Given the description of an element on the screen output the (x, y) to click on. 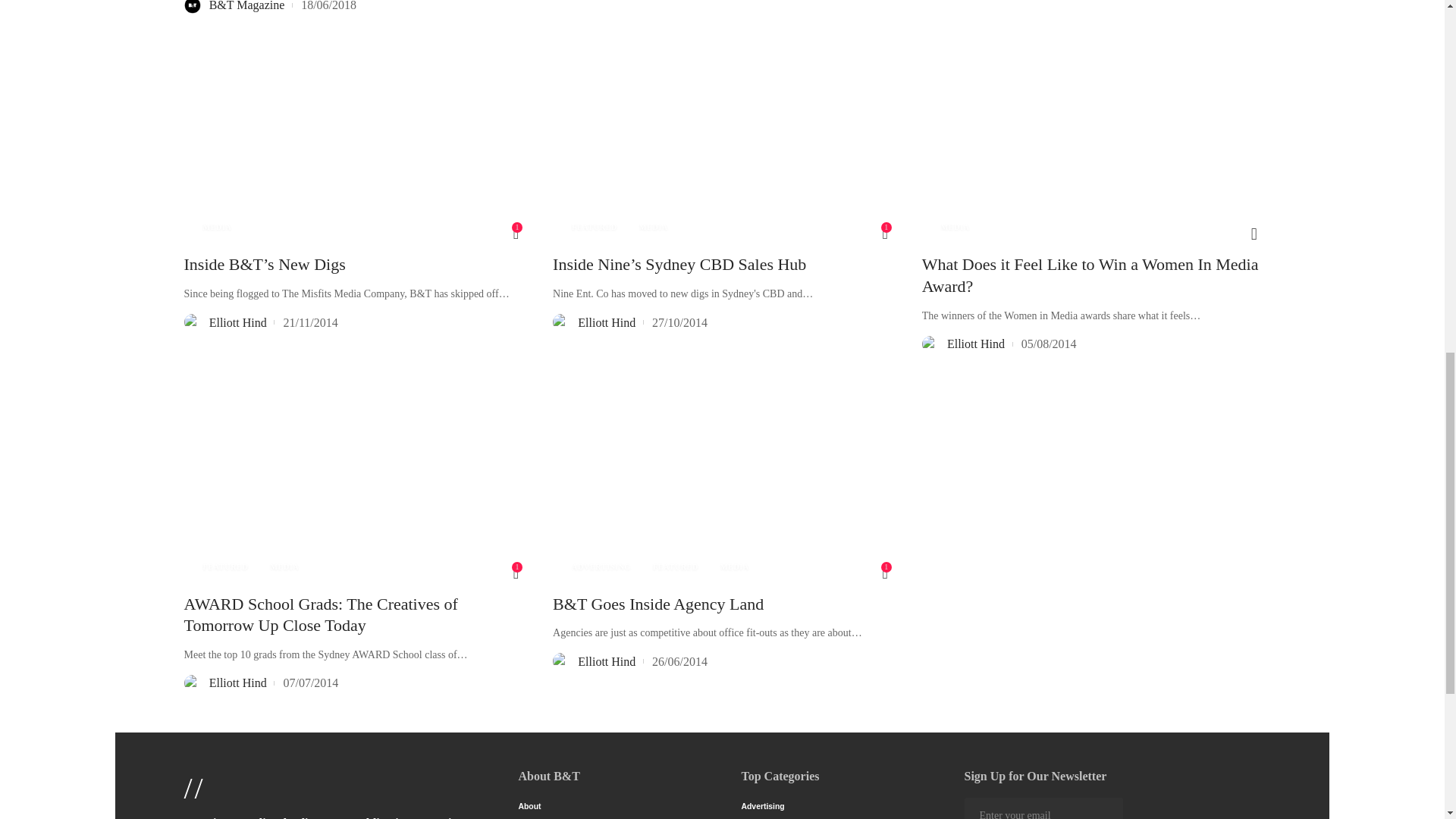
What Does it Feel Like to Win a Women In Media Award? (1090, 142)
AWARD School Grads: The Creatives of Tomorrow Up Close Today (352, 482)
